Given the description of an element on the screen output the (x, y) to click on. 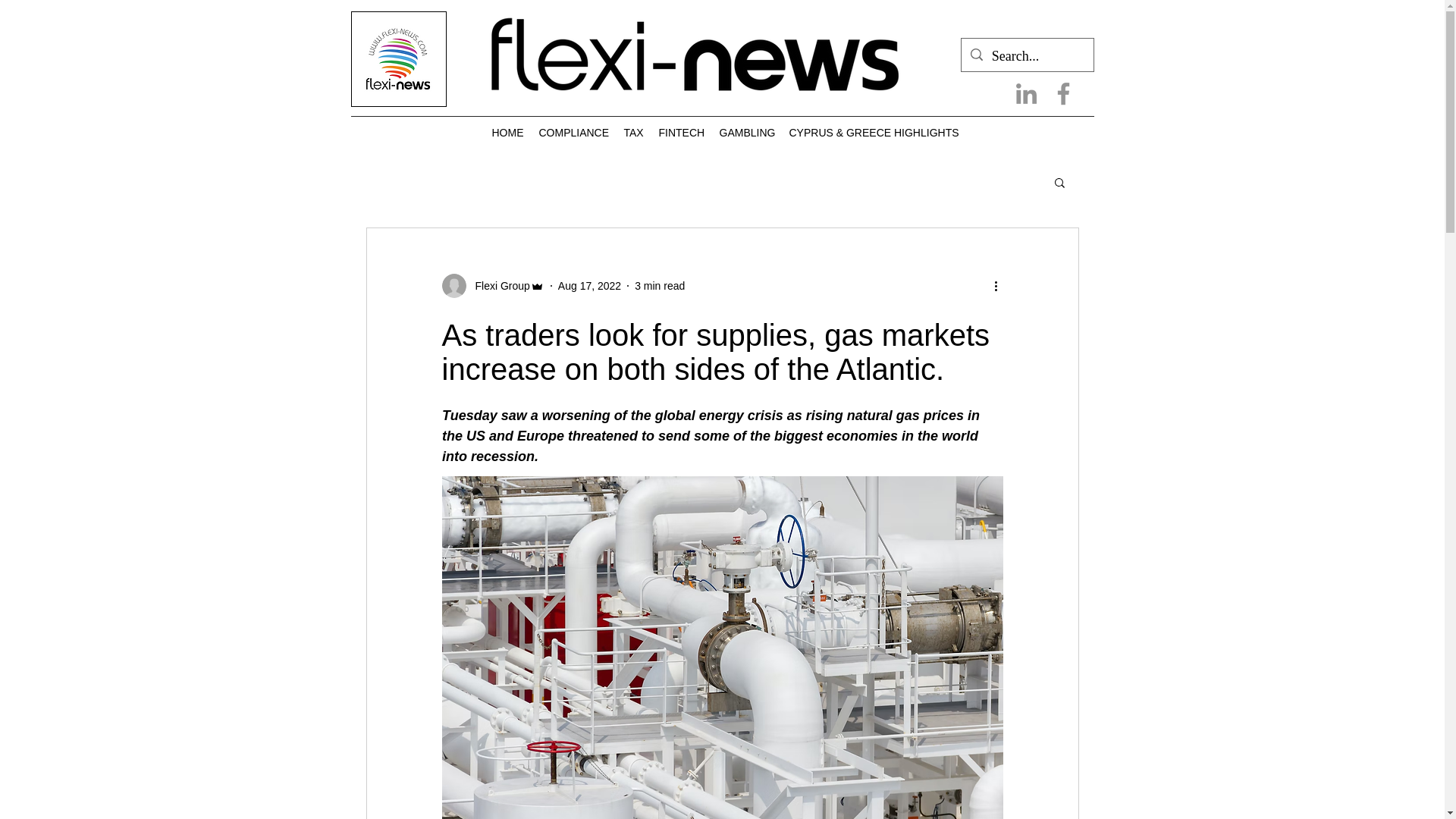
FINTECH (680, 132)
3 min read (659, 285)
Flexi Group (492, 285)
GAMBLING (745, 132)
TAX (632, 132)
COMPLIANCE (573, 132)
Aug 17, 2022 (589, 285)
Flexi Group (497, 285)
HOME (507, 132)
